Given the description of an element on the screen output the (x, y) to click on. 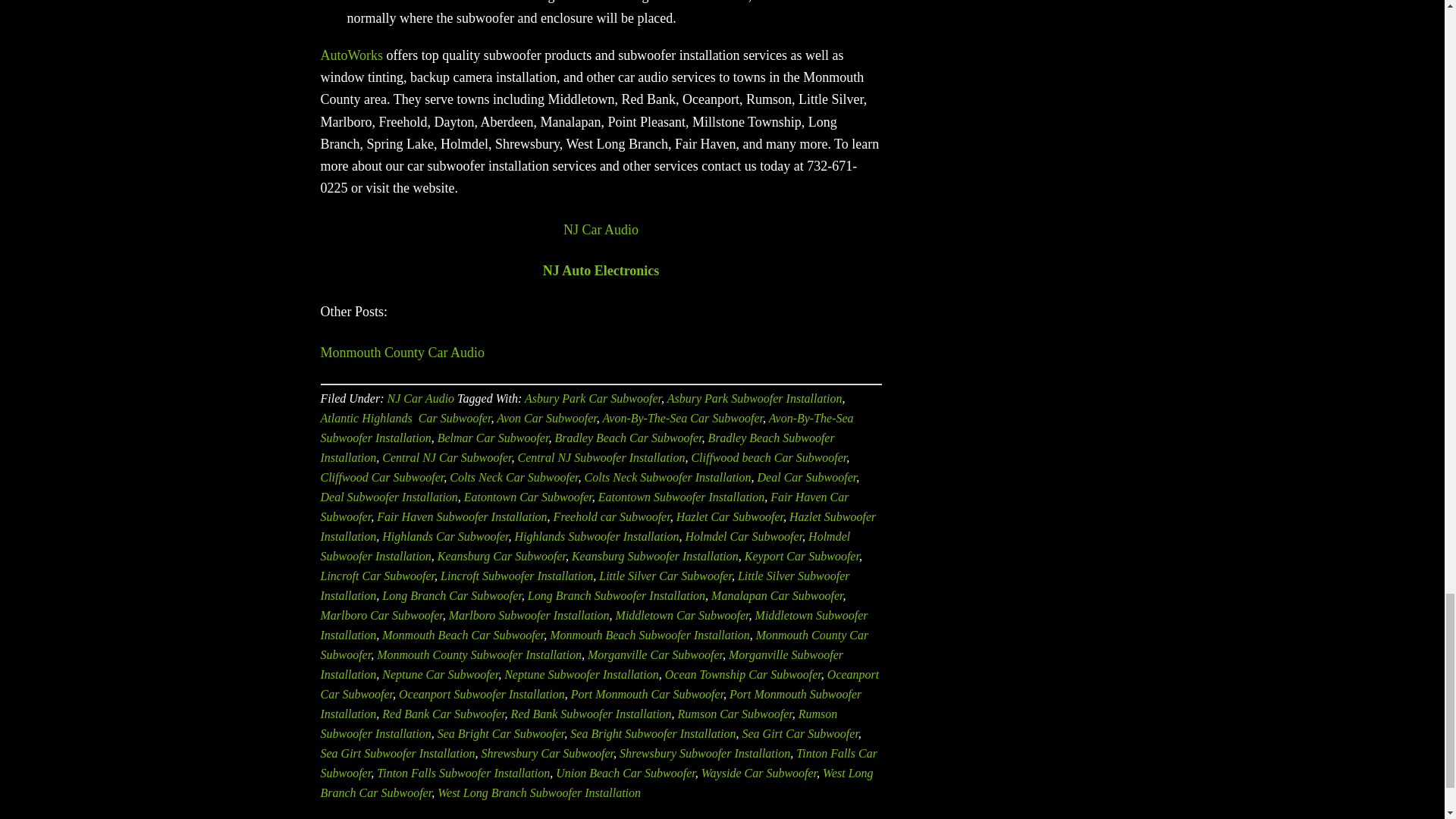
Avon-By-The-Sea Car Subwoofer (682, 418)
Central NJ Car Subwoofer (446, 457)
Central NJ Subwoofer Installation (601, 457)
Cliffwood beach Car Subwoofer (767, 457)
Fair Haven Subwoofer Installation (462, 516)
Colts Neck Car Subwoofer (513, 477)
Belmar Car Subwoofer (493, 437)
Avon-By-The-Sea Subwoofer Installation (586, 427)
NJ Car Audio (420, 398)
AutoWorks (351, 55)
Monmouth County Gauge Installation (601, 270)
Highlands Car Subwoofer (444, 535)
Bradley Beach Car Subwoofer (627, 437)
Hazlet Car Subwoofer (730, 516)
Deal Subwoofer Installation (388, 496)
